Given the description of an element on the screen output the (x, y) to click on. 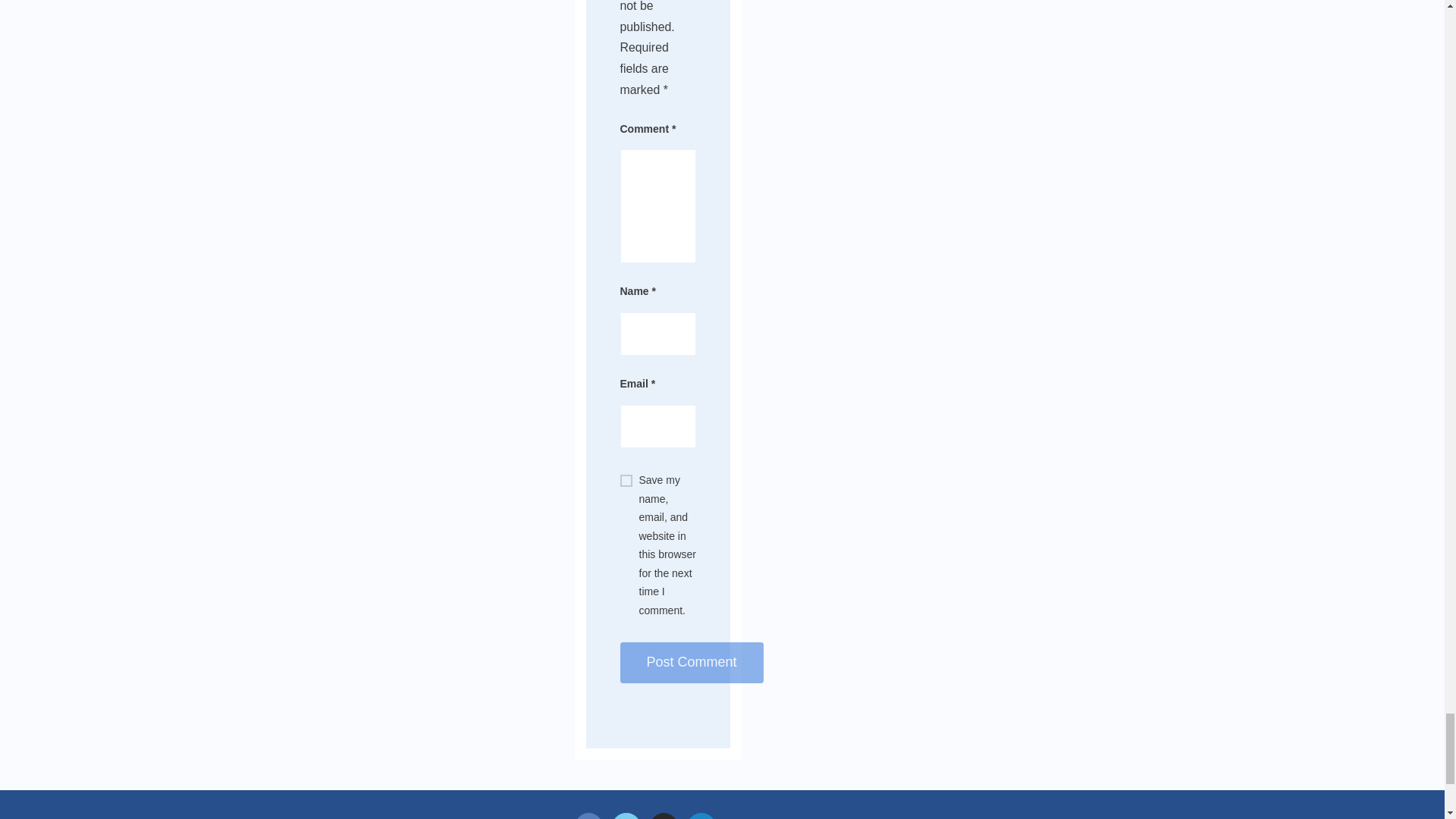
Post Comment (691, 662)
